Given the description of an element on the screen output the (x, y) to click on. 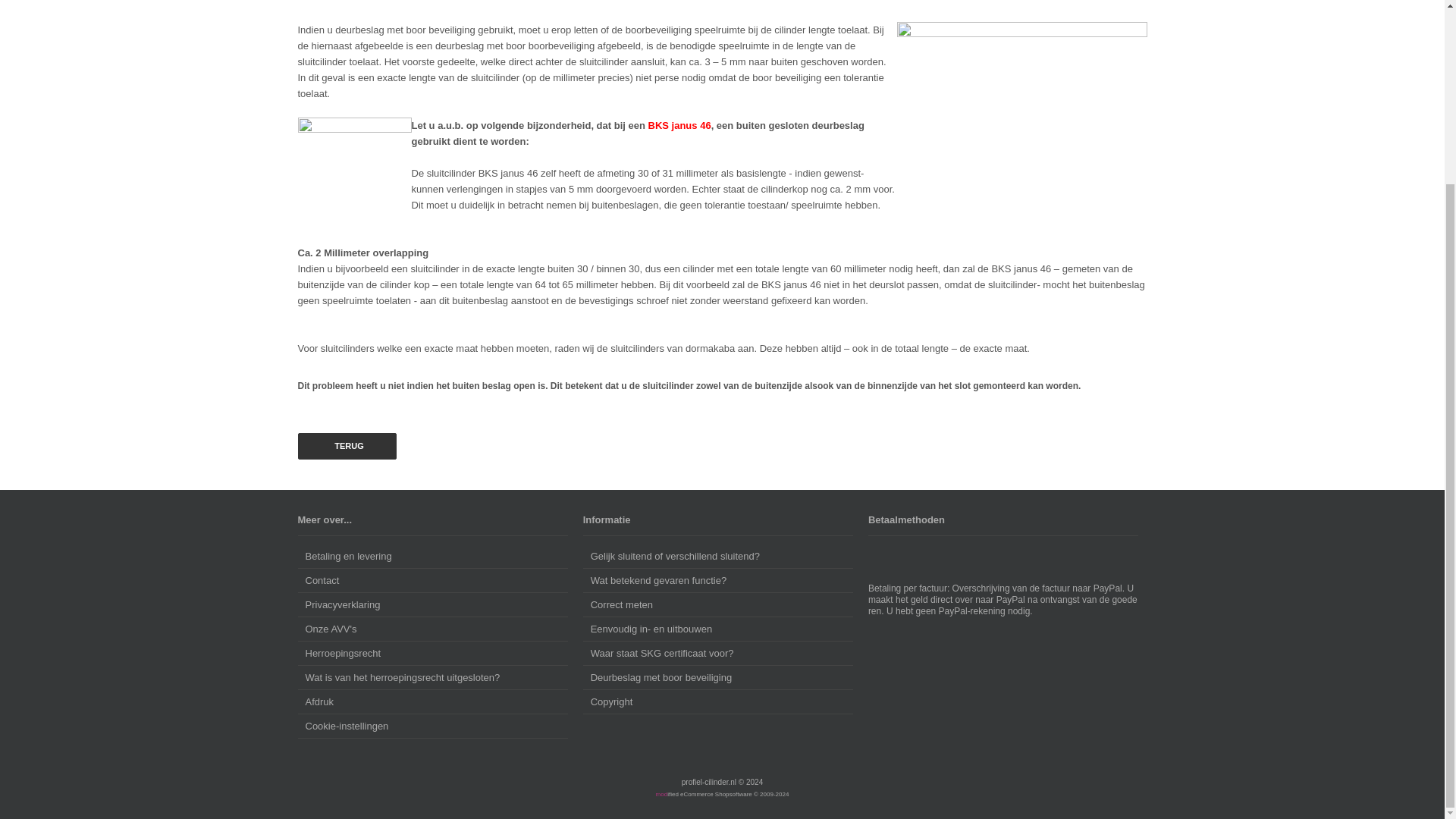
Afdruk (432, 702)
Waar staat SKG certificaat voor? (718, 653)
Wat betekend gevaren functie? (718, 580)
Cookie-instellingen (432, 726)
Correct meten (718, 604)
Betaling en levering (432, 556)
Privacyverklaring (432, 604)
Herroepingsrecht (432, 653)
Wat is van het herroepingsrecht uitgesloten? (432, 677)
Onze AVV's (432, 629)
